Given the description of an element on the screen output the (x, y) to click on. 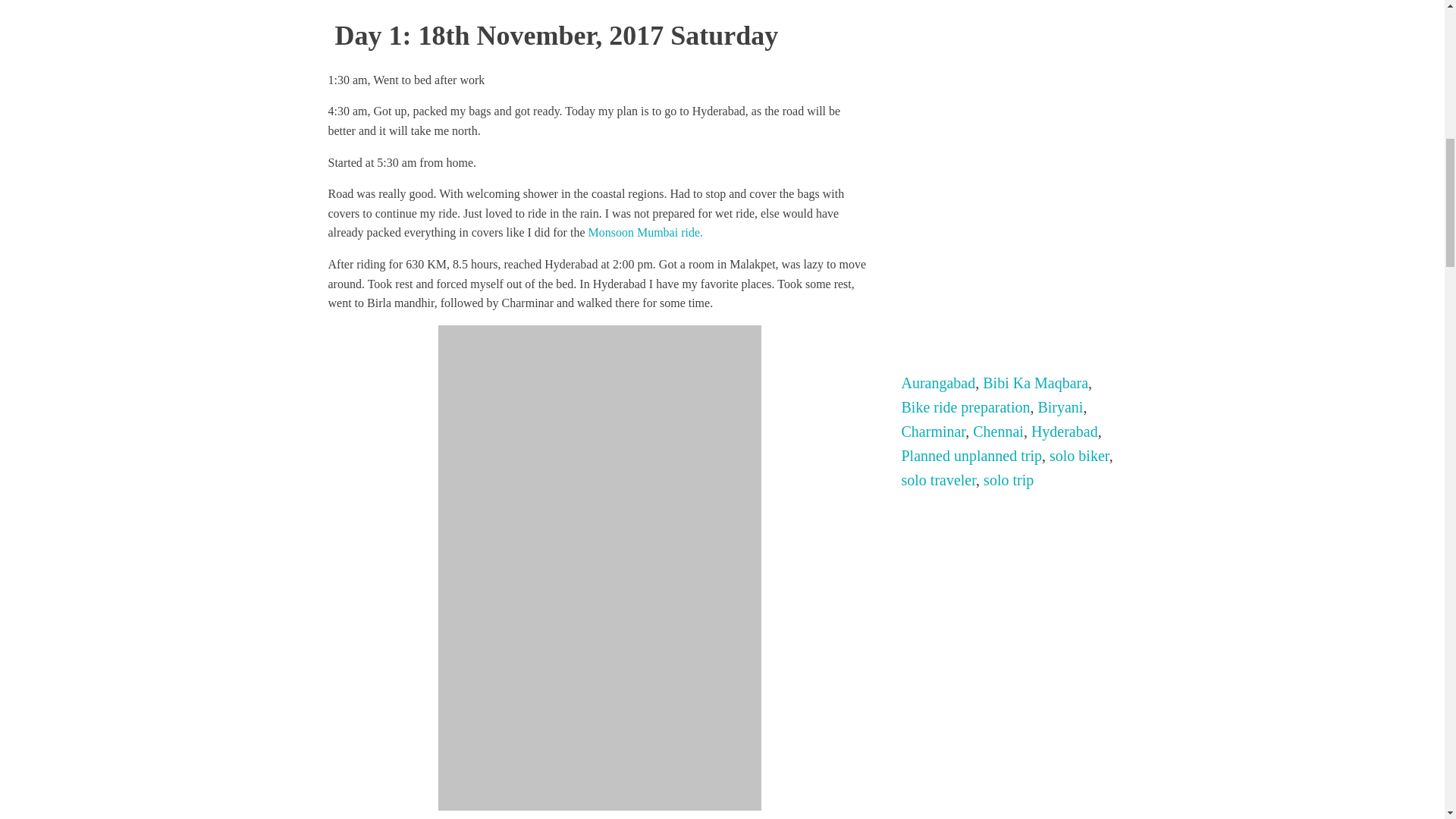
Chennai (997, 431)
Hyderabad (1063, 431)
Monsoon Mumbai ride. (645, 232)
solo biker (1079, 455)
Aurangabad (938, 382)
Charminar (933, 431)
Bibi Ka Maqbara (1034, 382)
solo trip (1008, 479)
solo traveler (938, 479)
Planned unplanned trip (971, 455)
